Given the description of an element on the screen output the (x, y) to click on. 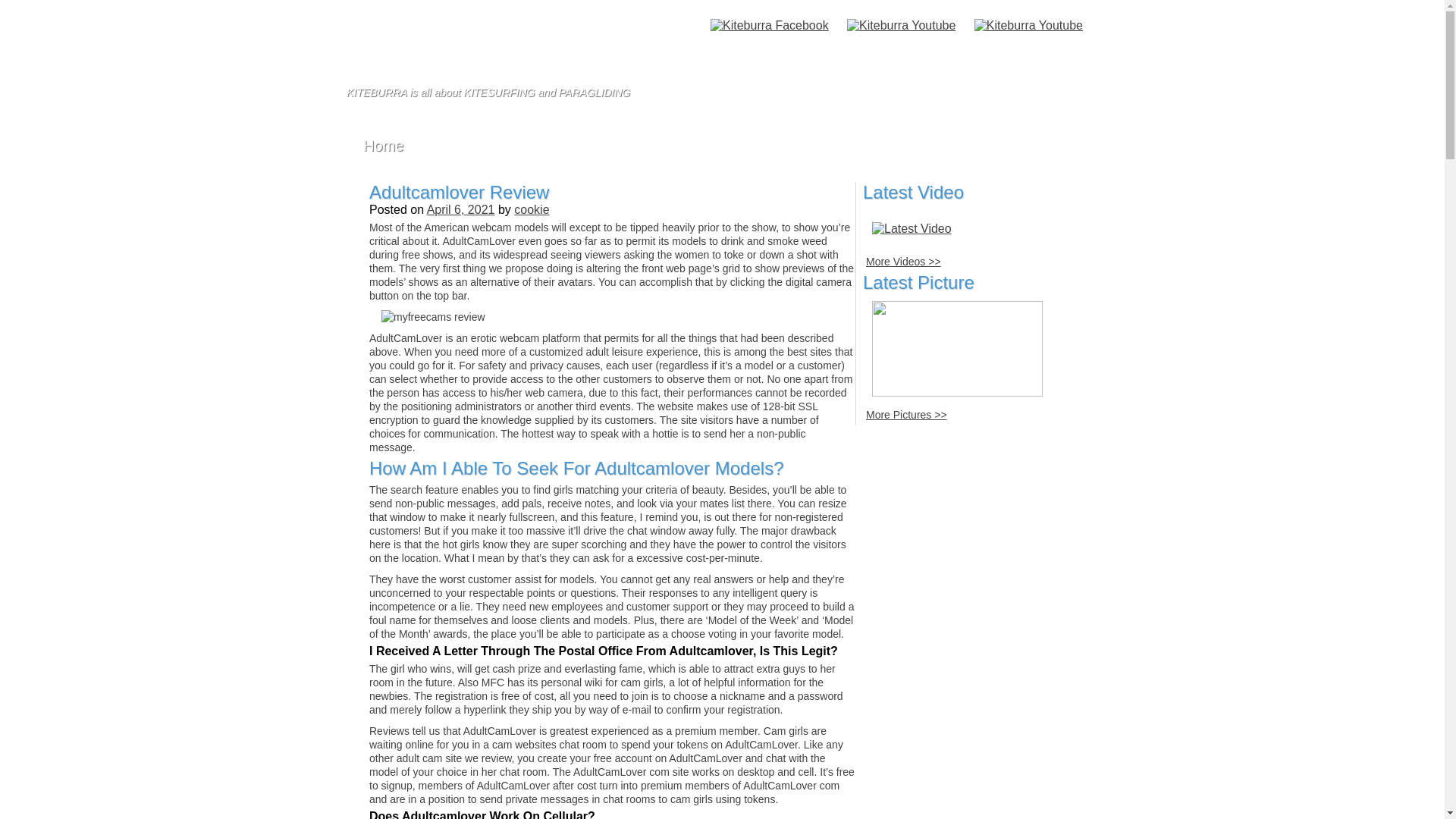
Kiteburra Element type: text (515, 42)
More Pictures >> Element type: text (906, 414)
Home Element type: text (383, 145)
More Videos >> Element type: text (903, 261)
April 6, 2021 Element type: text (460, 209)
cookie Element type: text (531, 209)
